Given the description of an element on the screen output the (x, y) to click on. 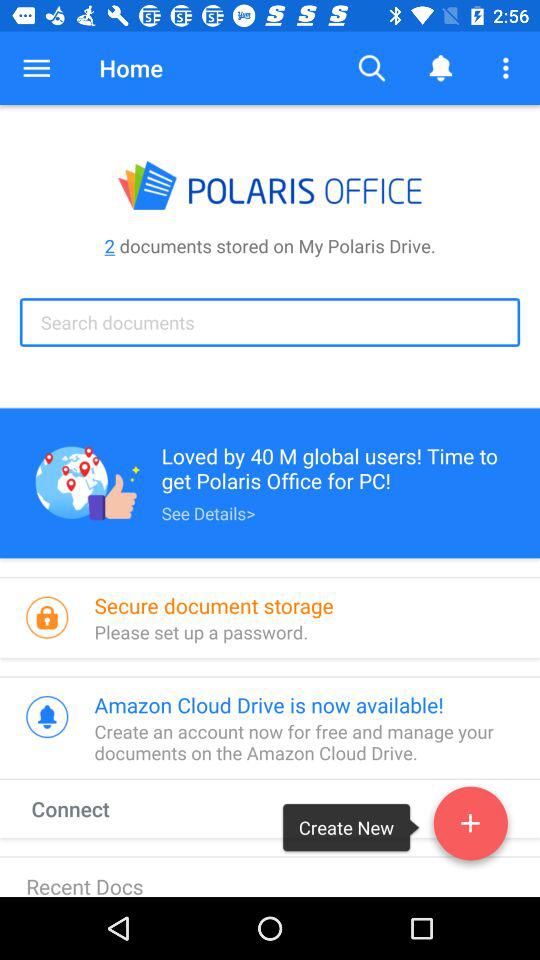
turn off icon next to create new icon (89, 808)
